Given the description of an element on the screen output the (x, y) to click on. 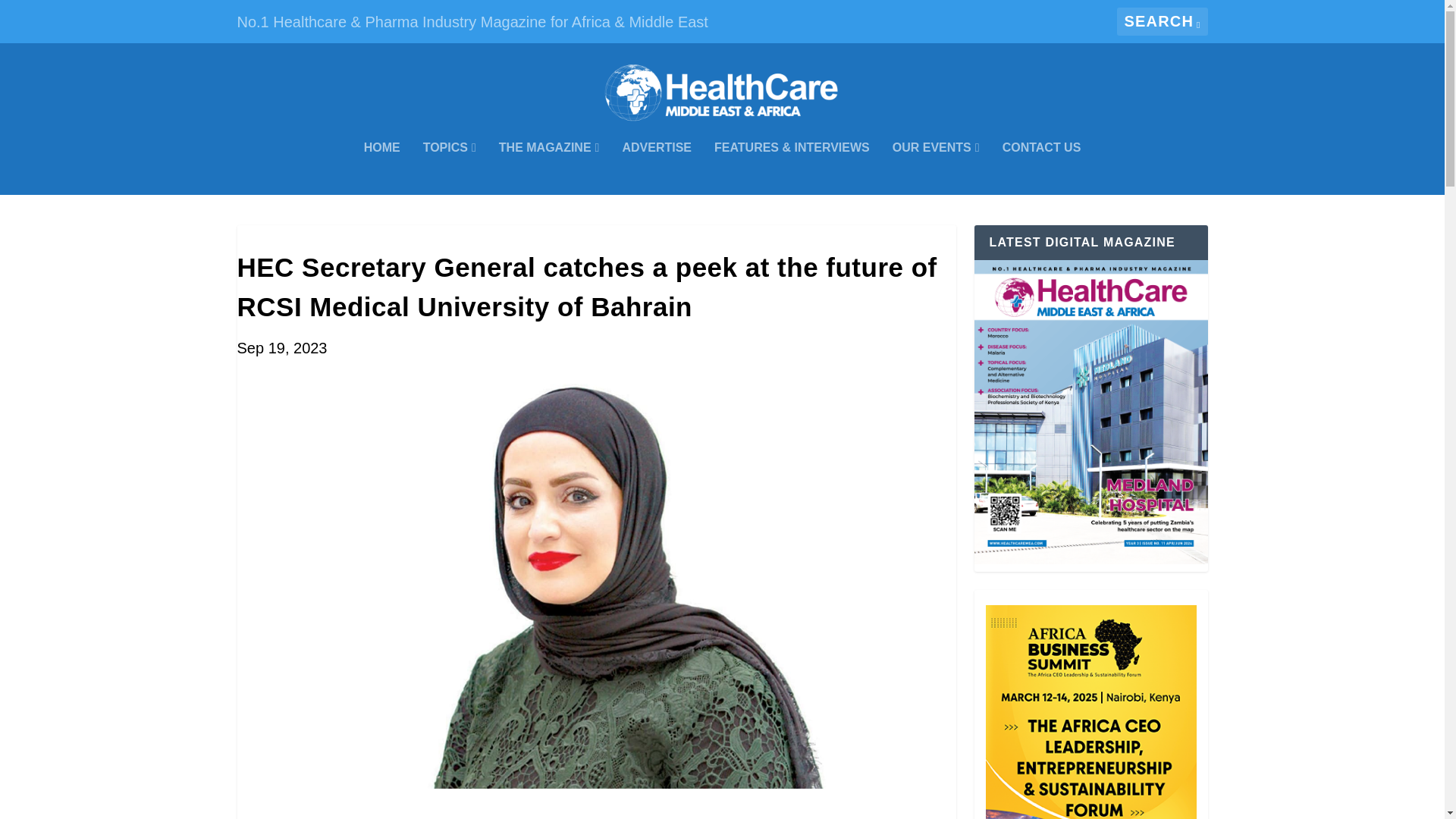
THE MAGAZINE (549, 167)
Search for: (1161, 21)
OUR EVENTS (935, 167)
OUR EVENTS (935, 167)
ADVERTISE (656, 167)
CONTACT US (1042, 167)
TOPICS (449, 167)
